Given the description of an element on the screen output the (x, y) to click on. 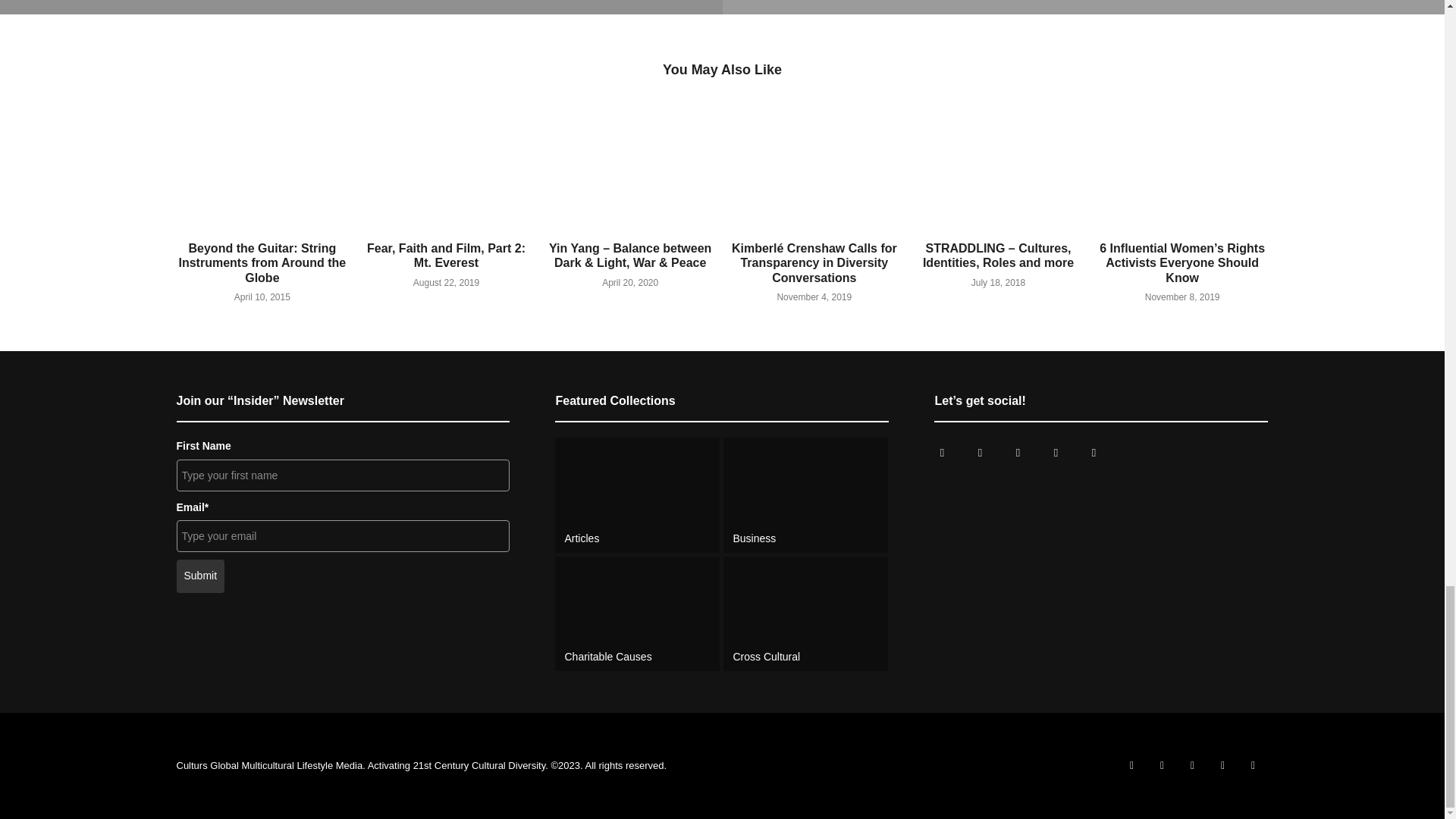
Cultursmag (978, 452)
Culturs (1017, 452)
Cultursmag (941, 452)
